Given the description of an element on the screen output the (x, y) to click on. 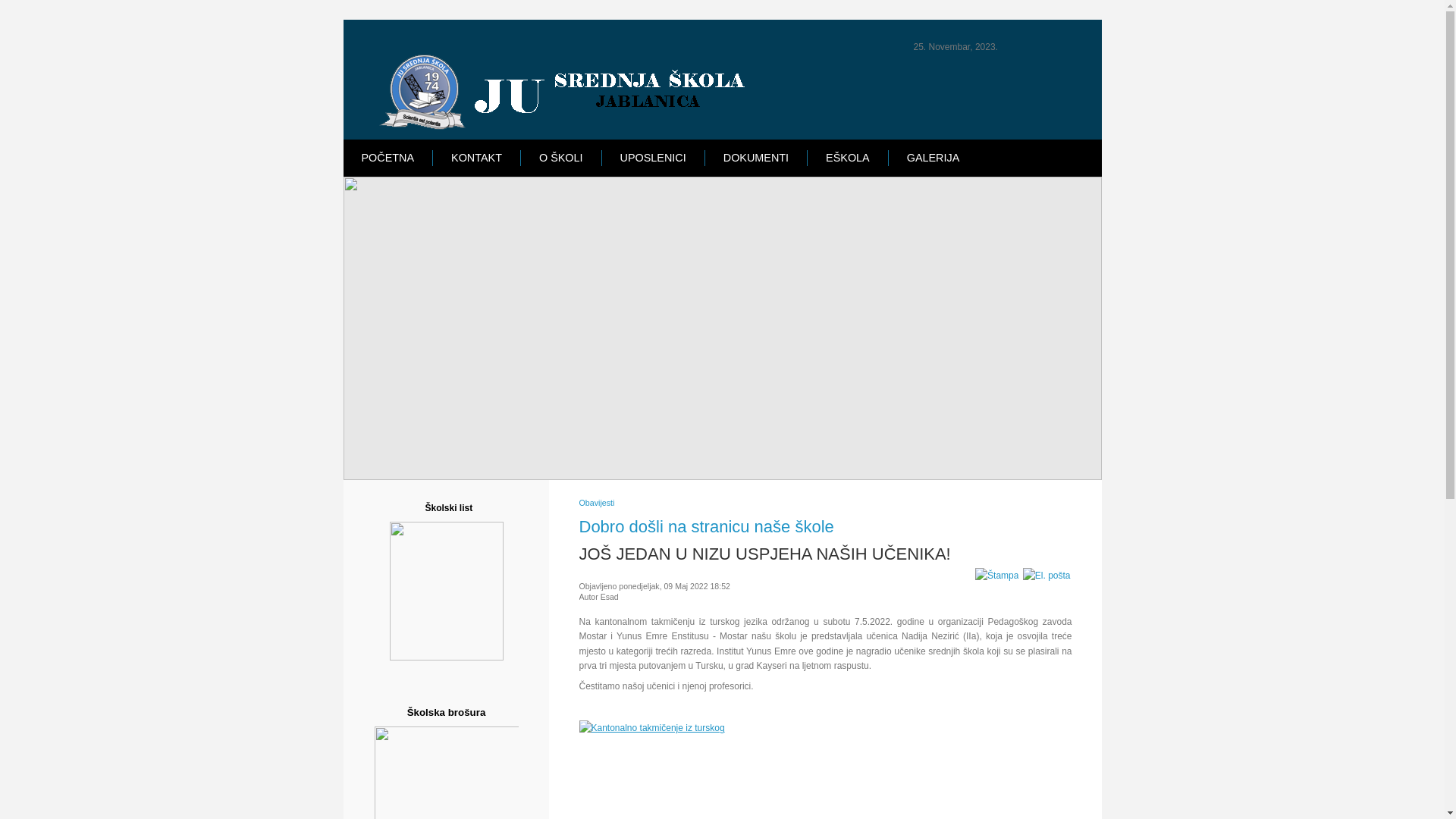
Obavijesti Element type: text (597, 502)
GALERIJA Element type: text (933, 157)
KONTAKT Element type: text (476, 157)
DOKUMENTI Element type: text (755, 157)
UPOSLENICI Element type: text (652, 157)
